Given the description of an element on the screen output the (x, y) to click on. 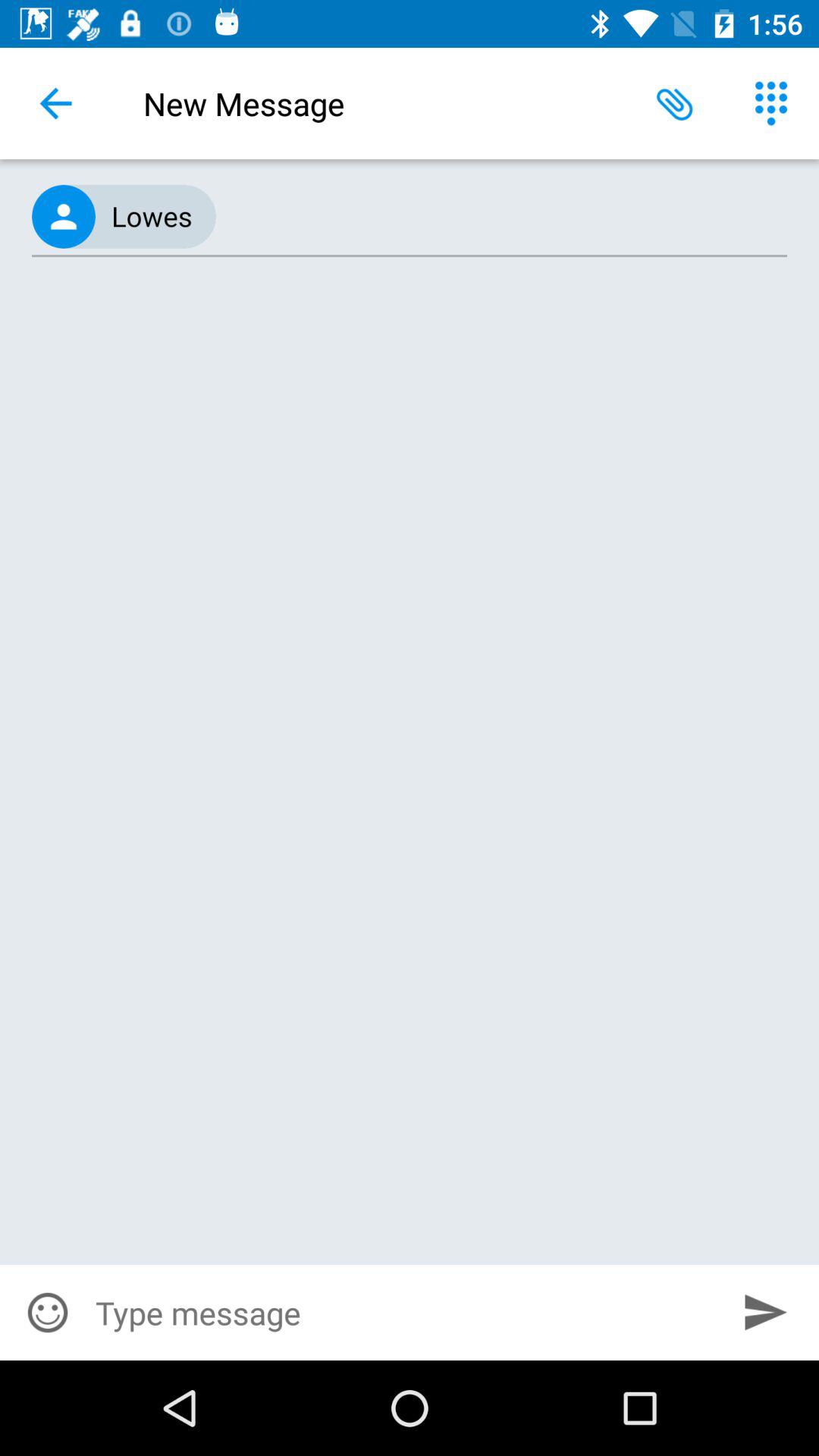
launch the icon next to the new message icon (55, 103)
